Given the description of an element on the screen output the (x, y) to click on. 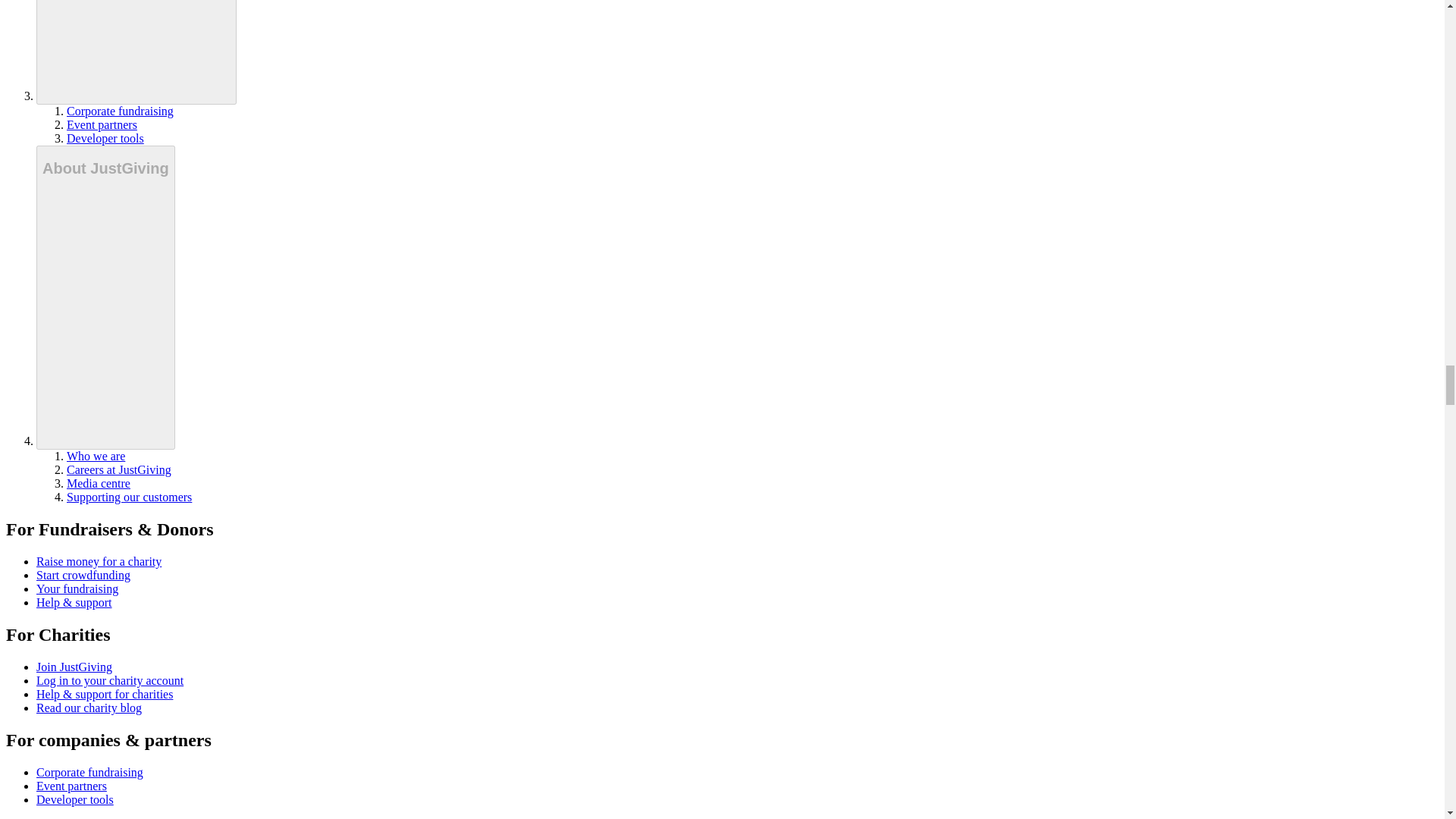
Corporate fundraising (119, 110)
Event partners (101, 124)
